Given the description of an element on the screen output the (x, y) to click on. 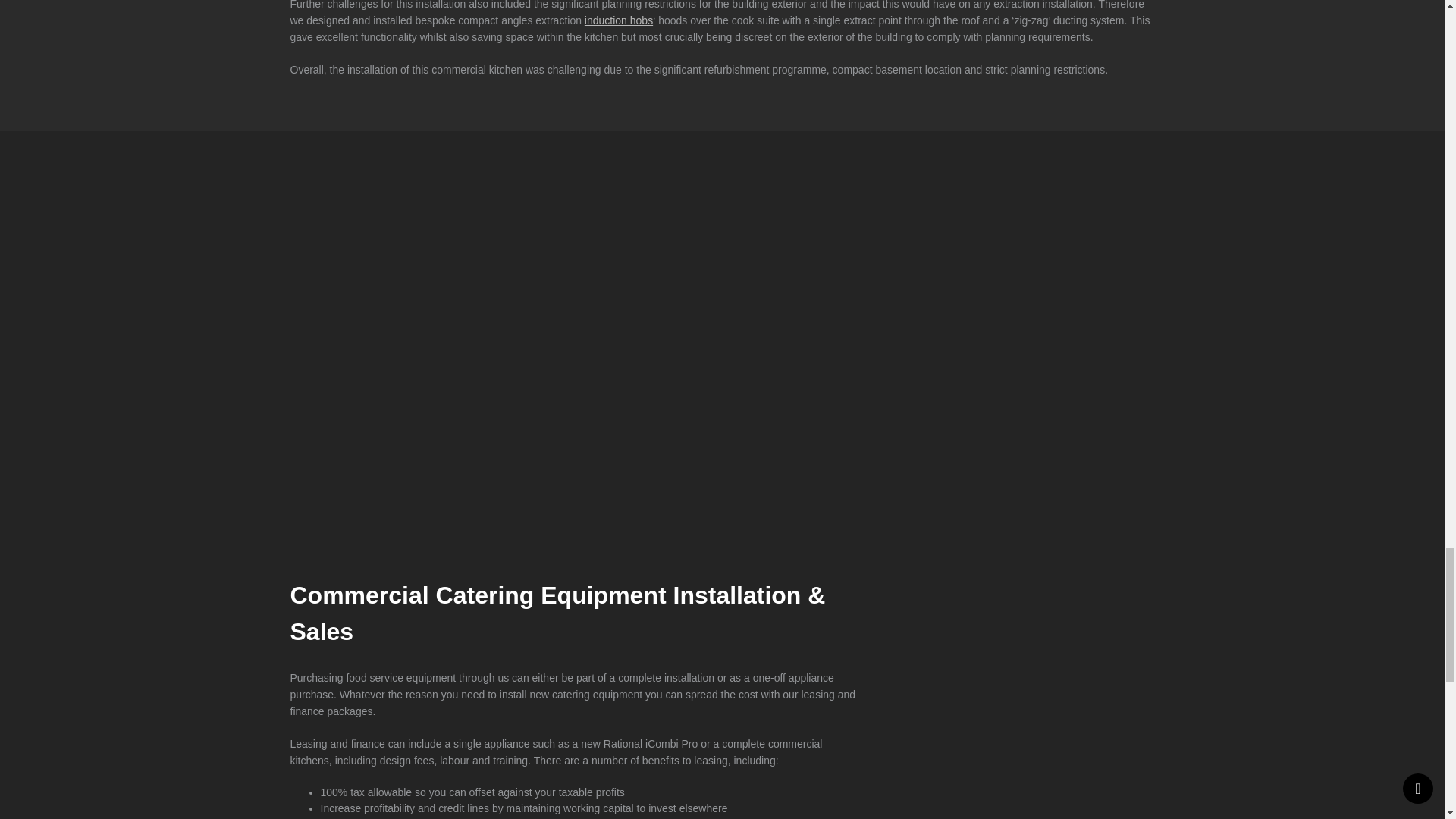
induction hobs (618, 20)
